Given the description of an element on the screen output the (x, y) to click on. 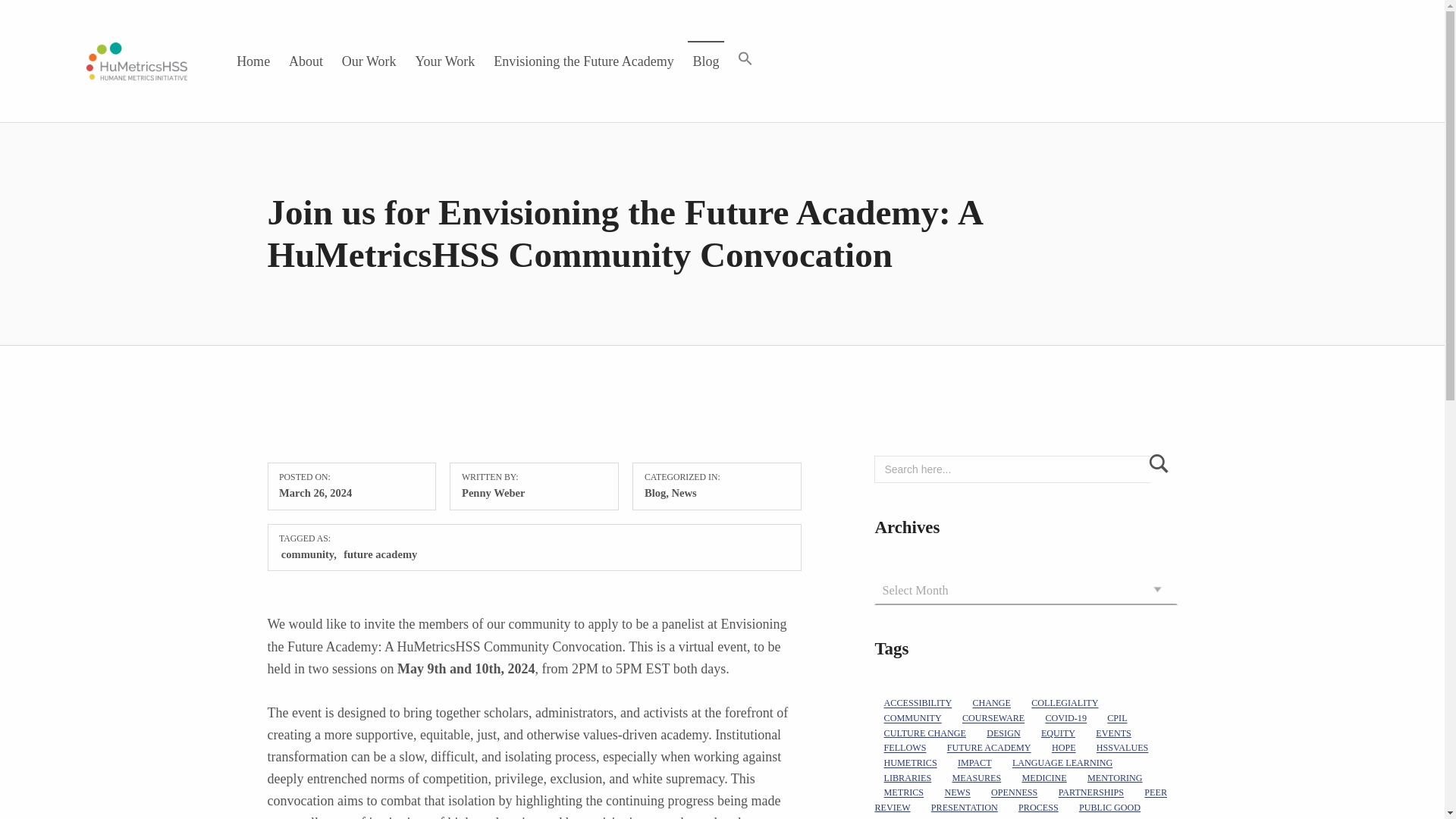
Home (253, 60)
Penny Weber (492, 492)
Your Work (445, 60)
Blog (706, 60)
March 26, 2024 (315, 492)
Posted on: March 26, 2024 (315, 492)
About (306, 60)
News (684, 492)
Blog (655, 492)
Our Work (368, 60)
